Given the description of an element on the screen output the (x, y) to click on. 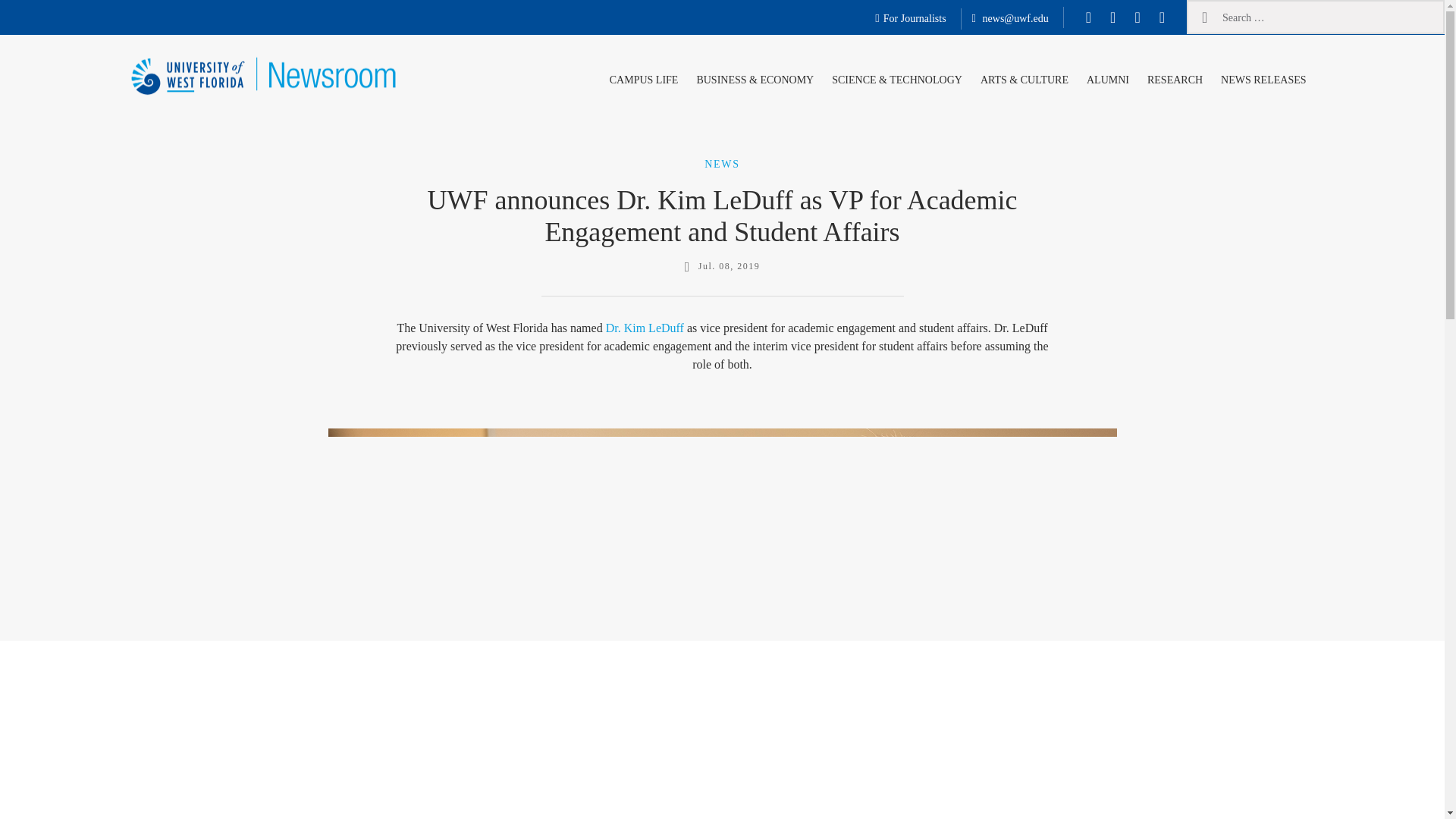
ALUMNI (1107, 77)
University of West Florida Newsroom (223, 124)
Dr. Kim LeDuff (644, 327)
RESEARCH (1174, 77)
Follow us on X (1112, 17)
Contact us (1010, 19)
CAMPUS LIFE (643, 77)
Connect with us on Linkedin (1161, 17)
For Journalists (909, 19)
NEWS (721, 163)
Find us on Facebook (1088, 17)
NEWS RELEASES (1262, 77)
For Journalists (909, 19)
Follow us on Instagram (1136, 17)
